Given the description of an element on the screen output the (x, y) to click on. 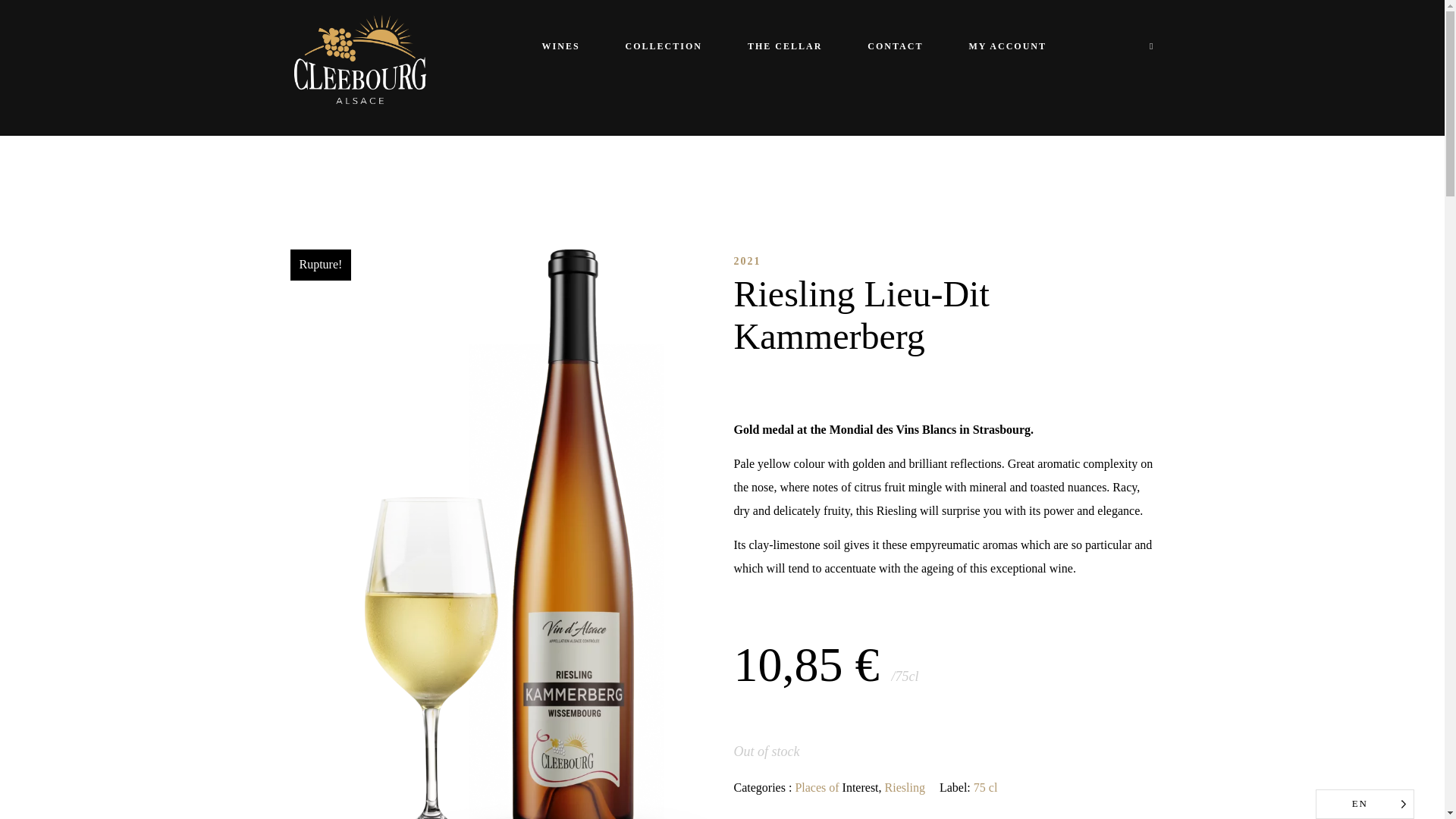
Collection (663, 46)
WINES (560, 46)
Places of (816, 787)
THE CELLAR (784, 46)
COLLECTION (663, 46)
Wines (560, 46)
75 cl (985, 787)
CONTACT (894, 46)
Riesling (904, 787)
MY ACCOUNT (995, 46)
